Given the description of an element on the screen output the (x, y) to click on. 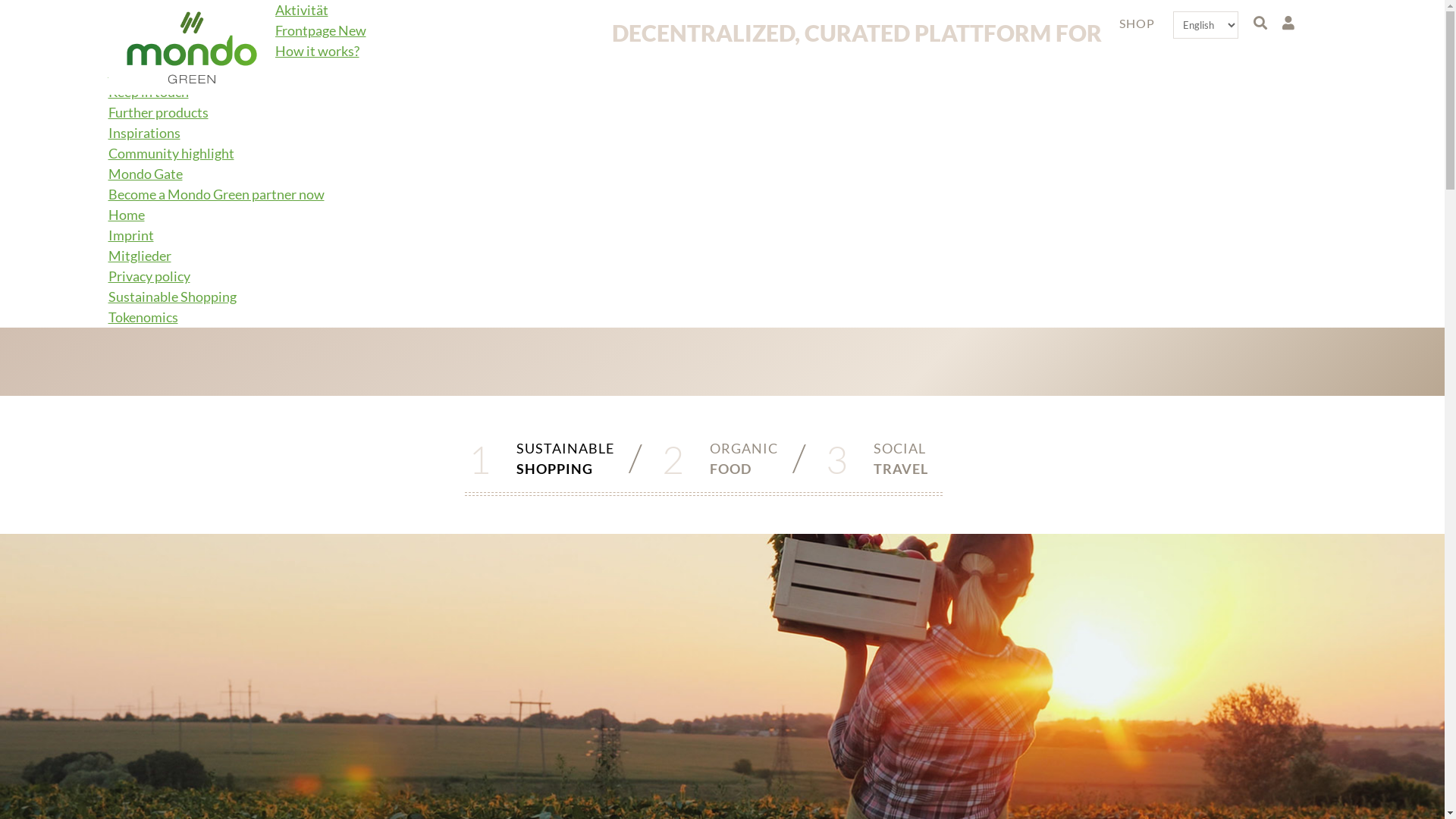
Sustainable Shopping Element type: text (171, 296)
Mondo Gate Element type: text (144, 173)
Products Element type: text (134, 70)
Become a Mondo Green partner now Element type: text (215, 193)
Inspirations Element type: text (143, 132)
Keep in touch Element type: text (147, 91)
How it works? Element type: text (316, 50)
Imprint Element type: text (130, 234)
Frontpage New Element type: text (319, 29)
SUSTAINABLE
SHOPPING Element type: text (565, 459)
Privacy policy Element type: text (148, 275)
Tokenomics Element type: text (142, 316)
Mitglieder Element type: text (138, 255)
Community highlight Element type: text (170, 152)
Home Element type: text (125, 214)
Further products Element type: text (157, 111)
Skip to main content Element type: text (0, 0)
